Given the description of an element on the screen output the (x, y) to click on. 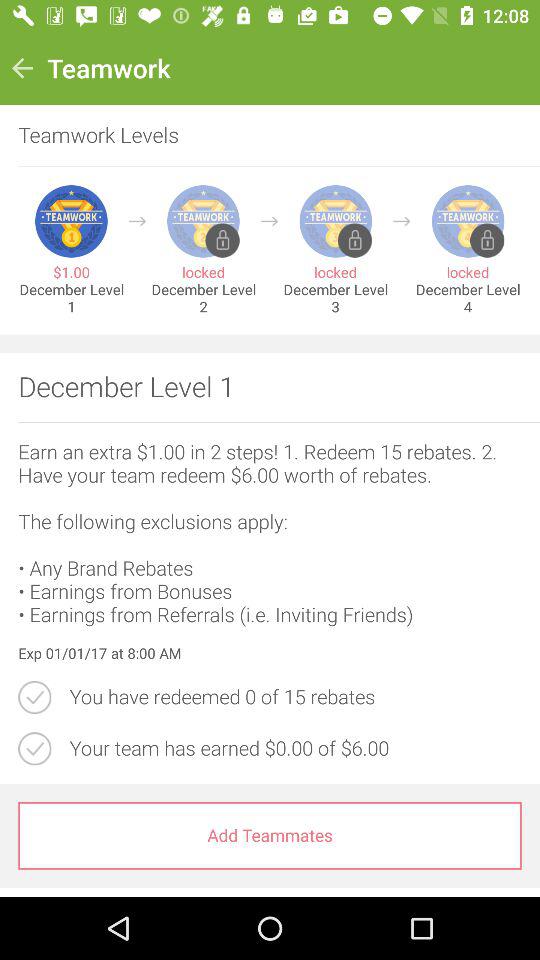
flip to the add teammates icon (269, 835)
